Given the description of an element on the screen output the (x, y) to click on. 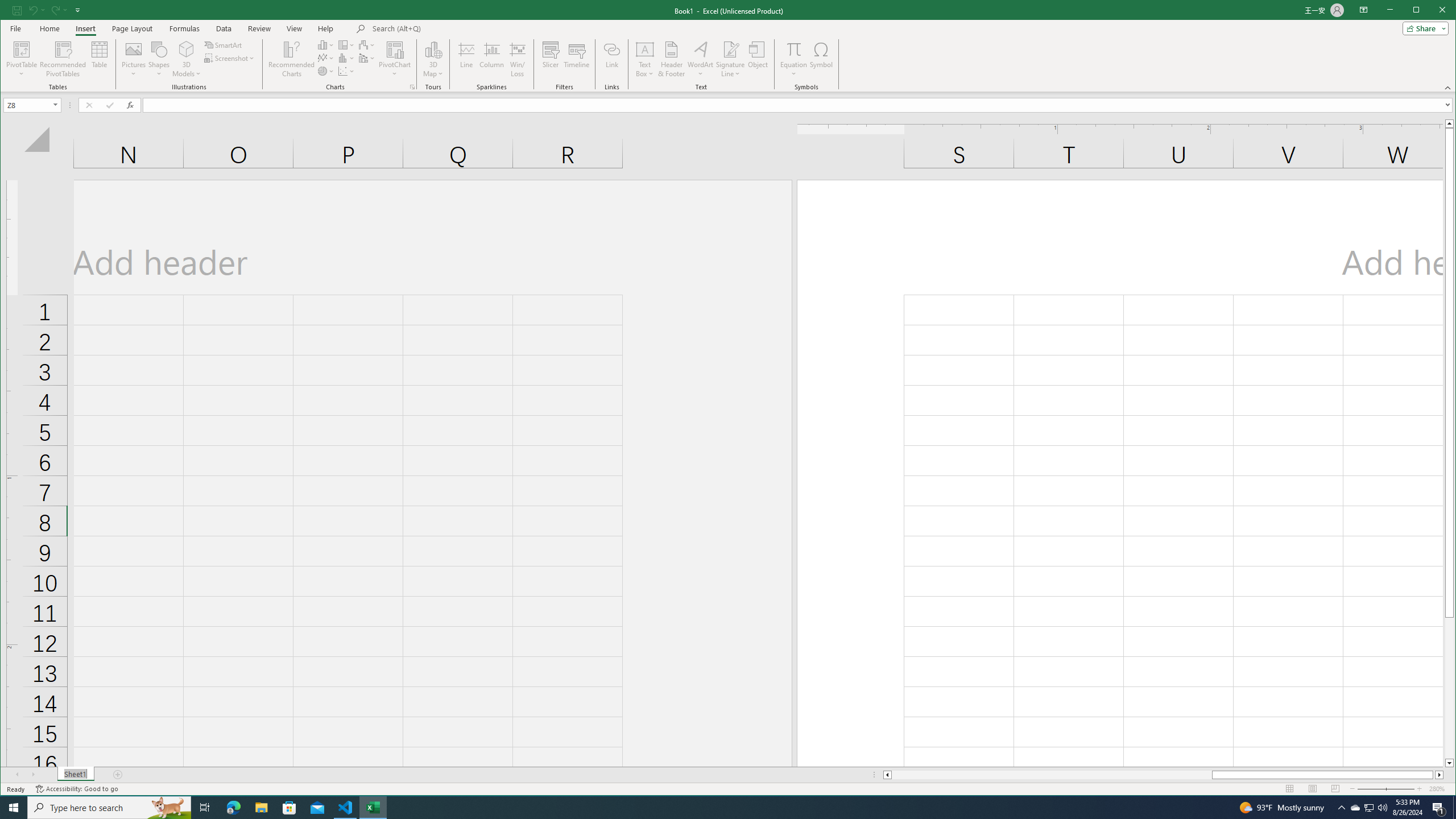
Signature Line (729, 59)
Show desktop (1454, 807)
Pictures (133, 59)
Class: MsoCommandBar (728, 45)
Microsoft Store (289, 807)
Slicer... (550, 59)
PivotChart (394, 59)
Column (492, 59)
File Explorer (261, 807)
Draw Horizontal Text Box (644, 48)
Text Box (644, 59)
